Given the description of an element on the screen output the (x, y) to click on. 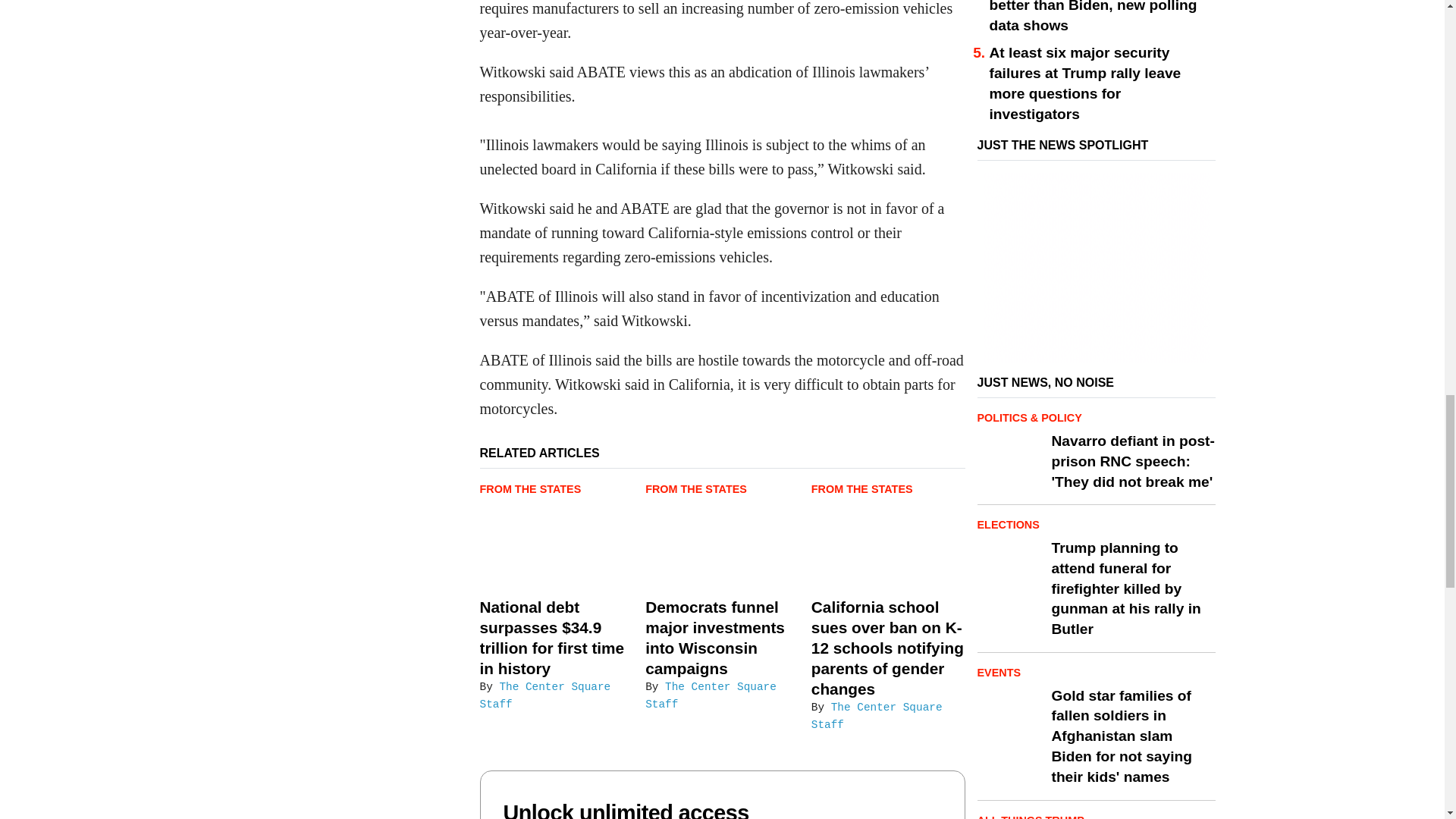
3rd party ad content (1095, 267)
